Given the description of an element on the screen output the (x, y) to click on. 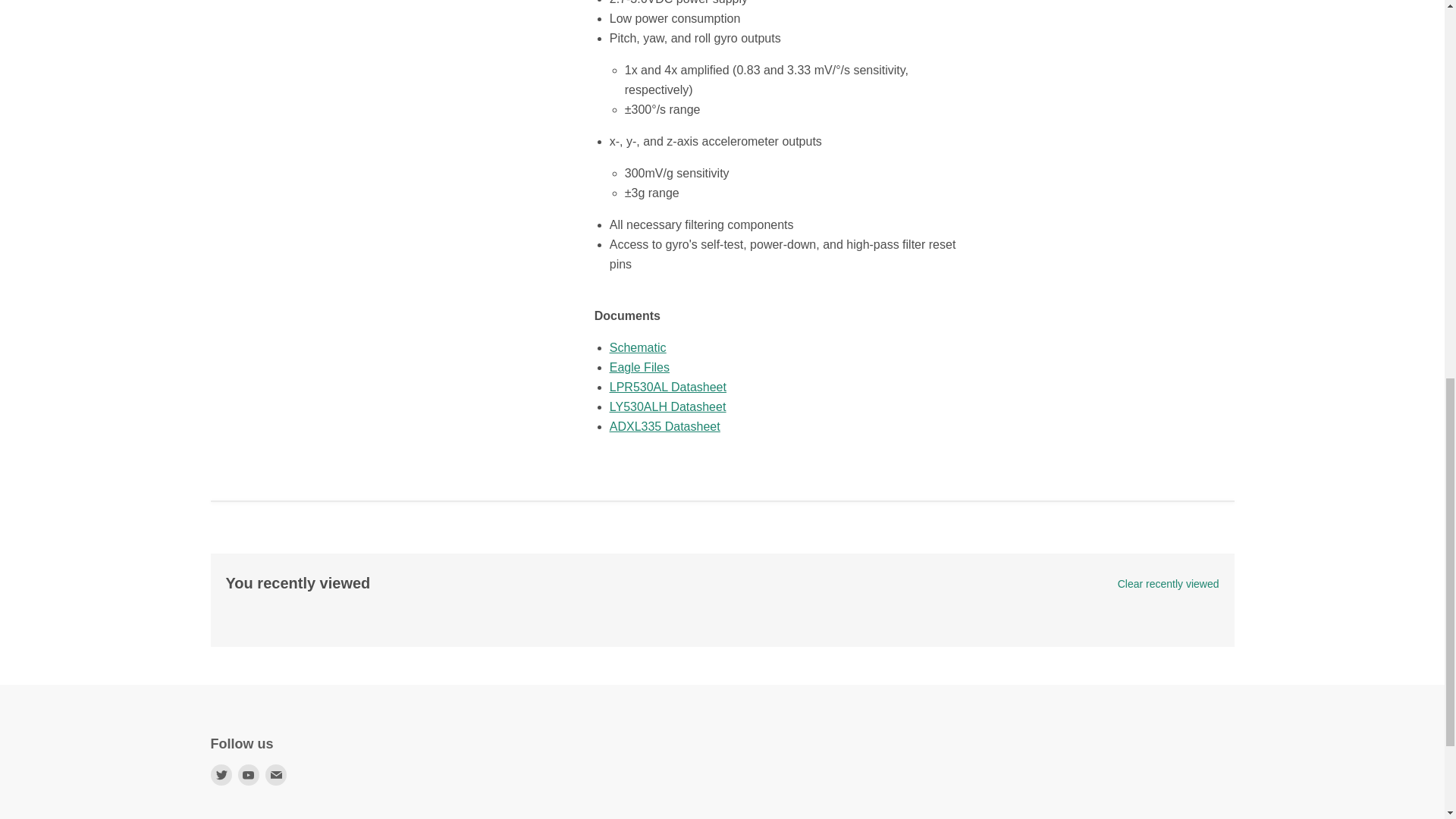
Twitter (221, 774)
Email (275, 774)
Youtube (248, 774)
